Given the description of an element on the screen output the (x, y) to click on. 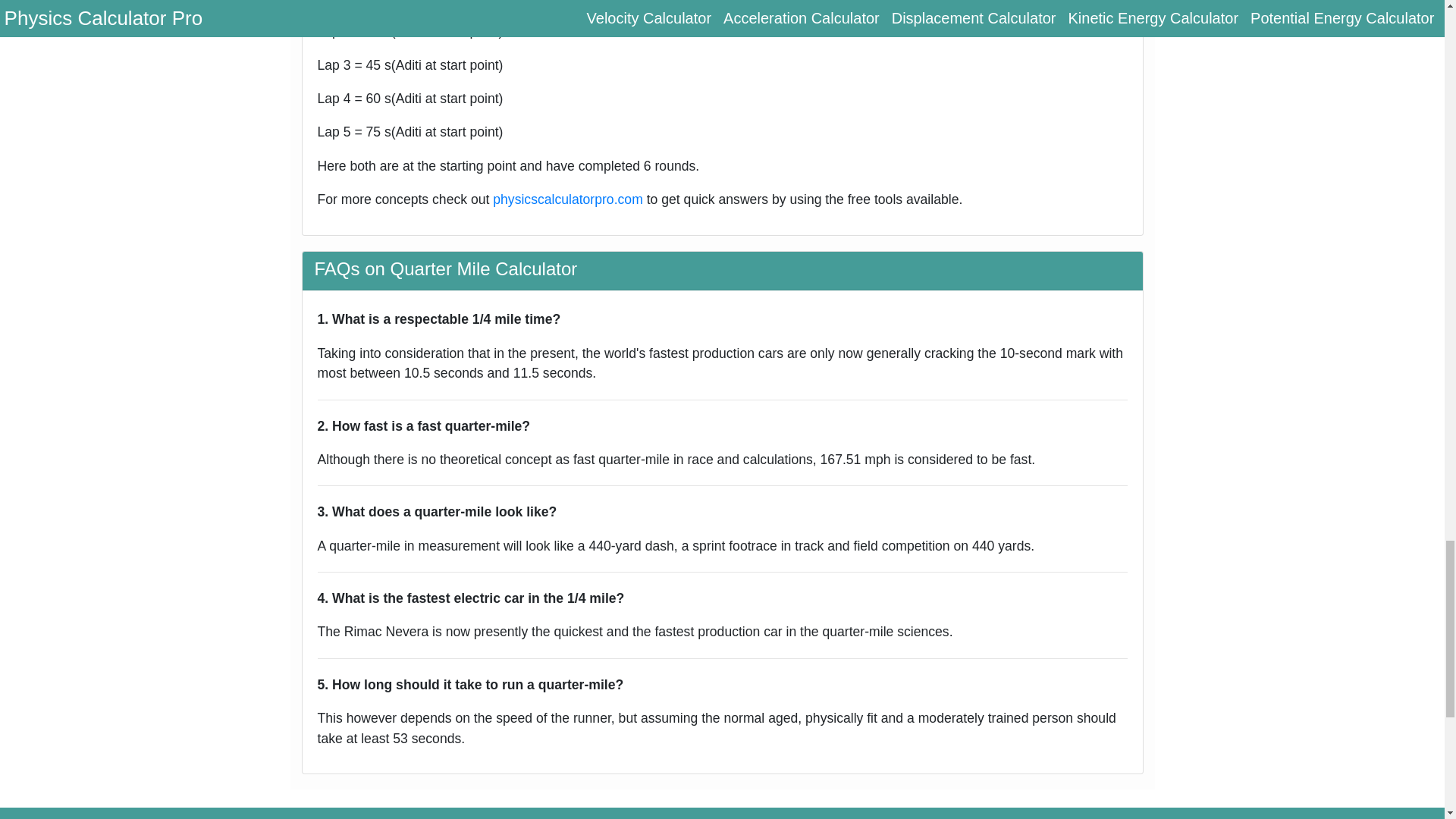
physicscalculatorpro.com (568, 199)
